Given the description of an element on the screen output the (x, y) to click on. 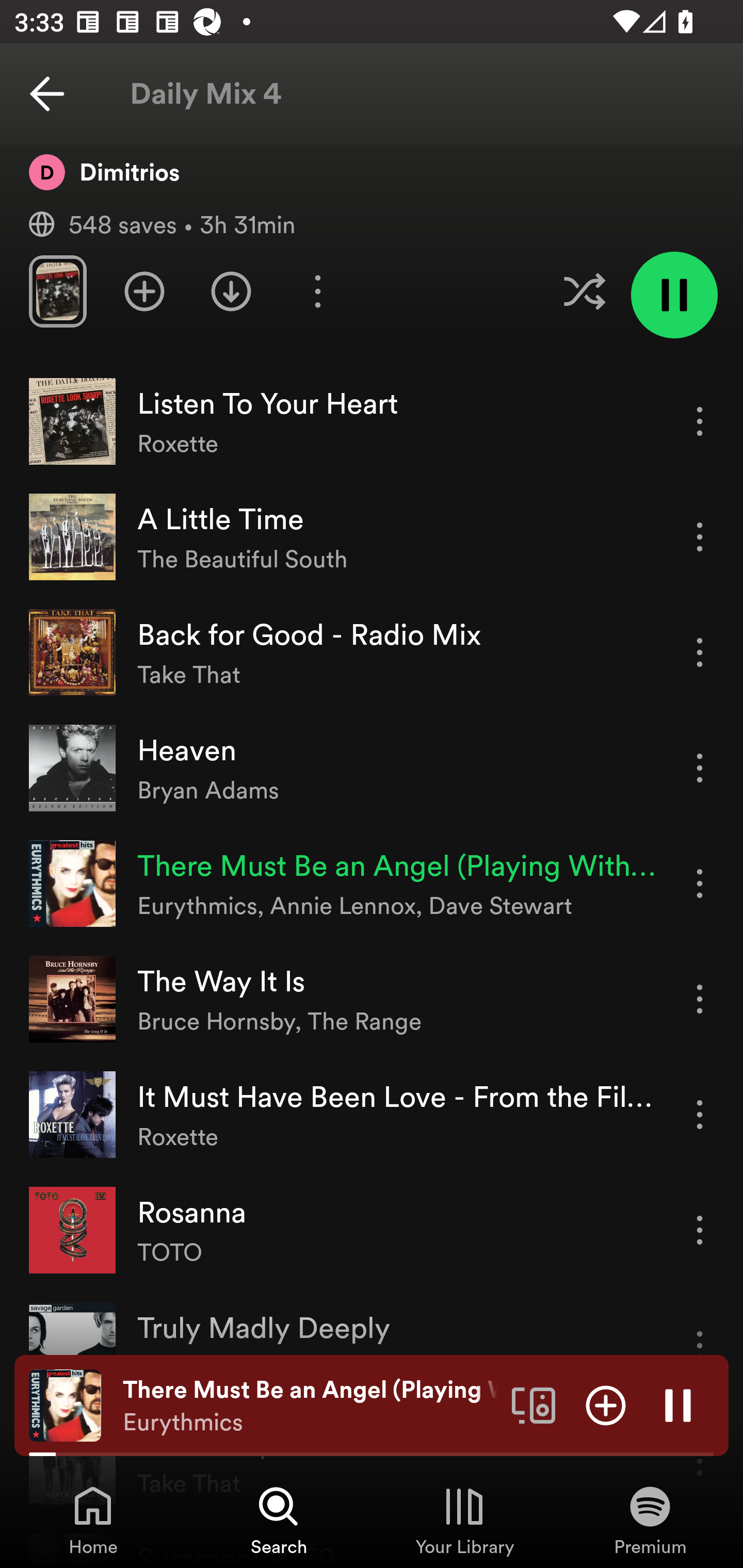
Back (46, 93)
Dimitrios (103, 171)
Swipe through previews of tracks in this playlist. (57, 290)
Add playlist to Your Library (144, 290)
Download (230, 290)
More options for playlist Daily Mix 4 (317, 290)
Enable shuffle for this playlist (583, 290)
Pause playlist (674, 294)
More options for song Listen To Your Heart (699, 420)
More options for song A Little Time (699, 536)
More options for song Back for Good - Radio Mix (699, 652)
Heaven Bryan Adams More options for song Heaven (371, 768)
More options for song Heaven (699, 767)
More options for song The Way It Is (699, 999)
